Given the description of an element on the screen output the (x, y) to click on. 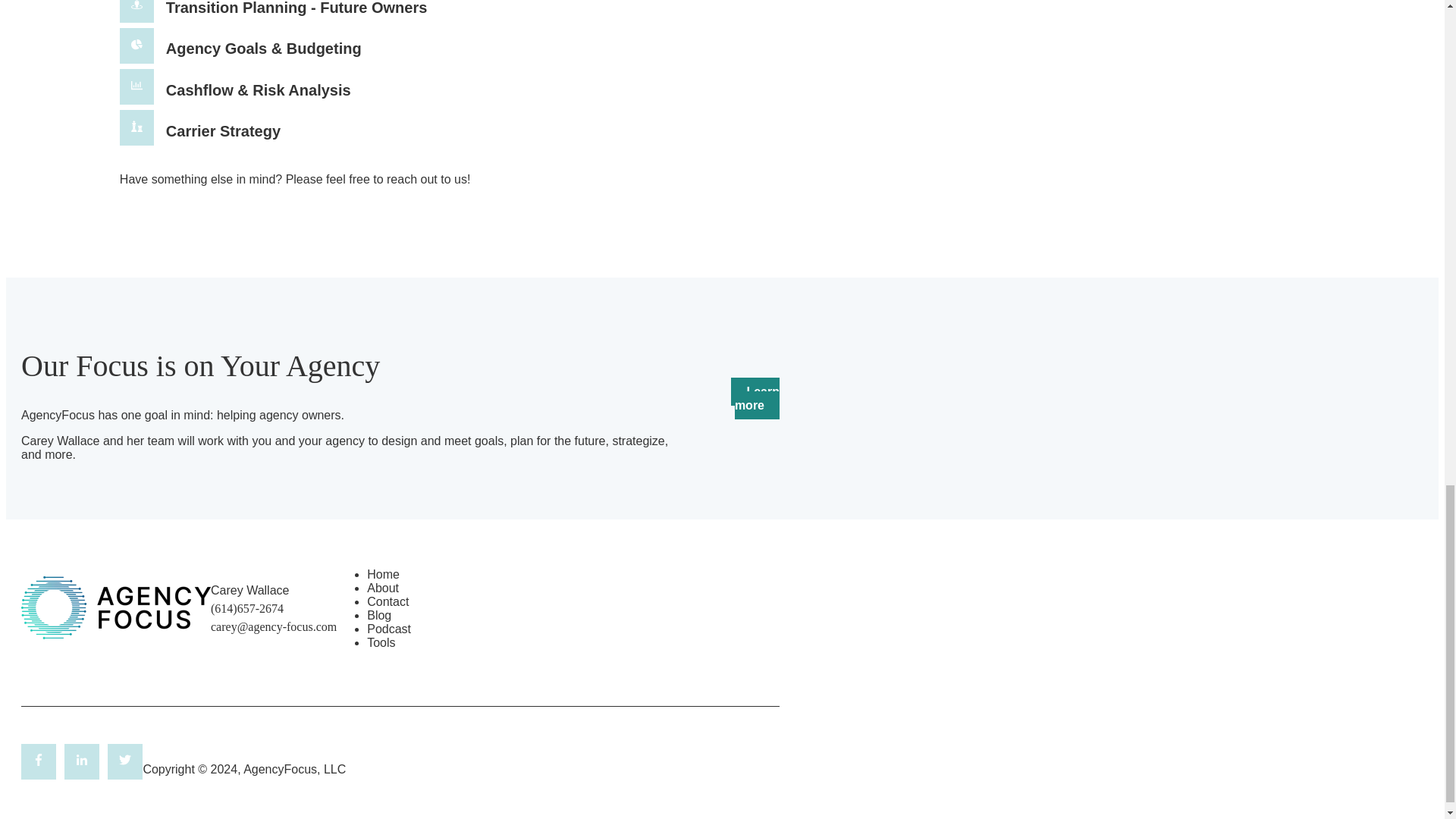
Learn more (754, 398)
linkedin-in icon (81, 759)
facebook-f icon (38, 761)
Tools (380, 642)
Podcast (388, 628)
linkedin-in icon (81, 761)
Contact (387, 601)
Blog (378, 615)
Twitter icon (125, 759)
facebook-f icon (38, 759)
About (382, 587)
Home (382, 574)
